Given the description of an element on the screen output the (x, y) to click on. 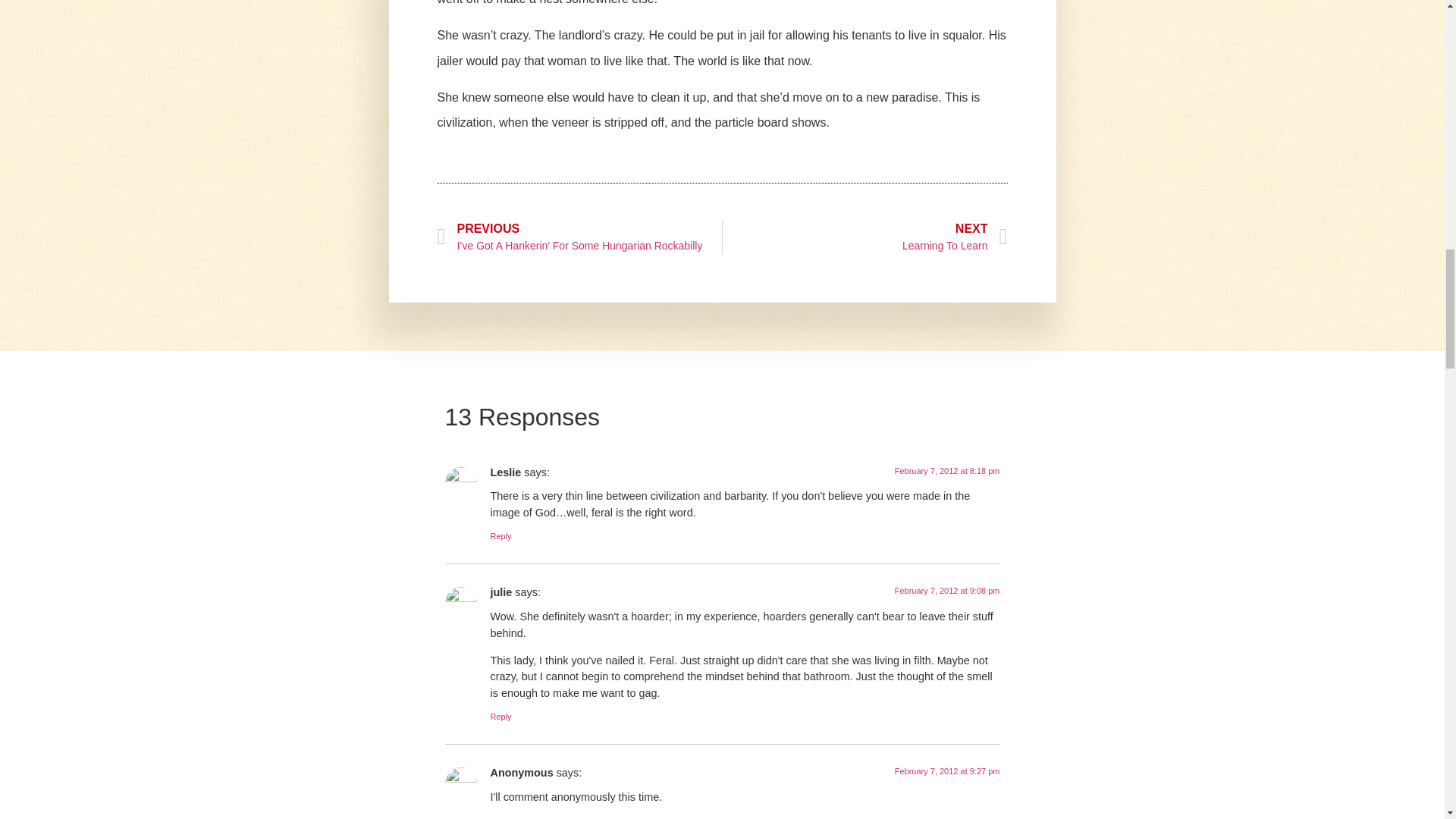
Reply (500, 535)
Reply (500, 716)
February 7, 2012 at 9:27 pm (947, 770)
February 7, 2012 at 8:18 pm (947, 470)
February 7, 2012 at 9:08 pm (864, 236)
